Given the description of an element on the screen output the (x, y) to click on. 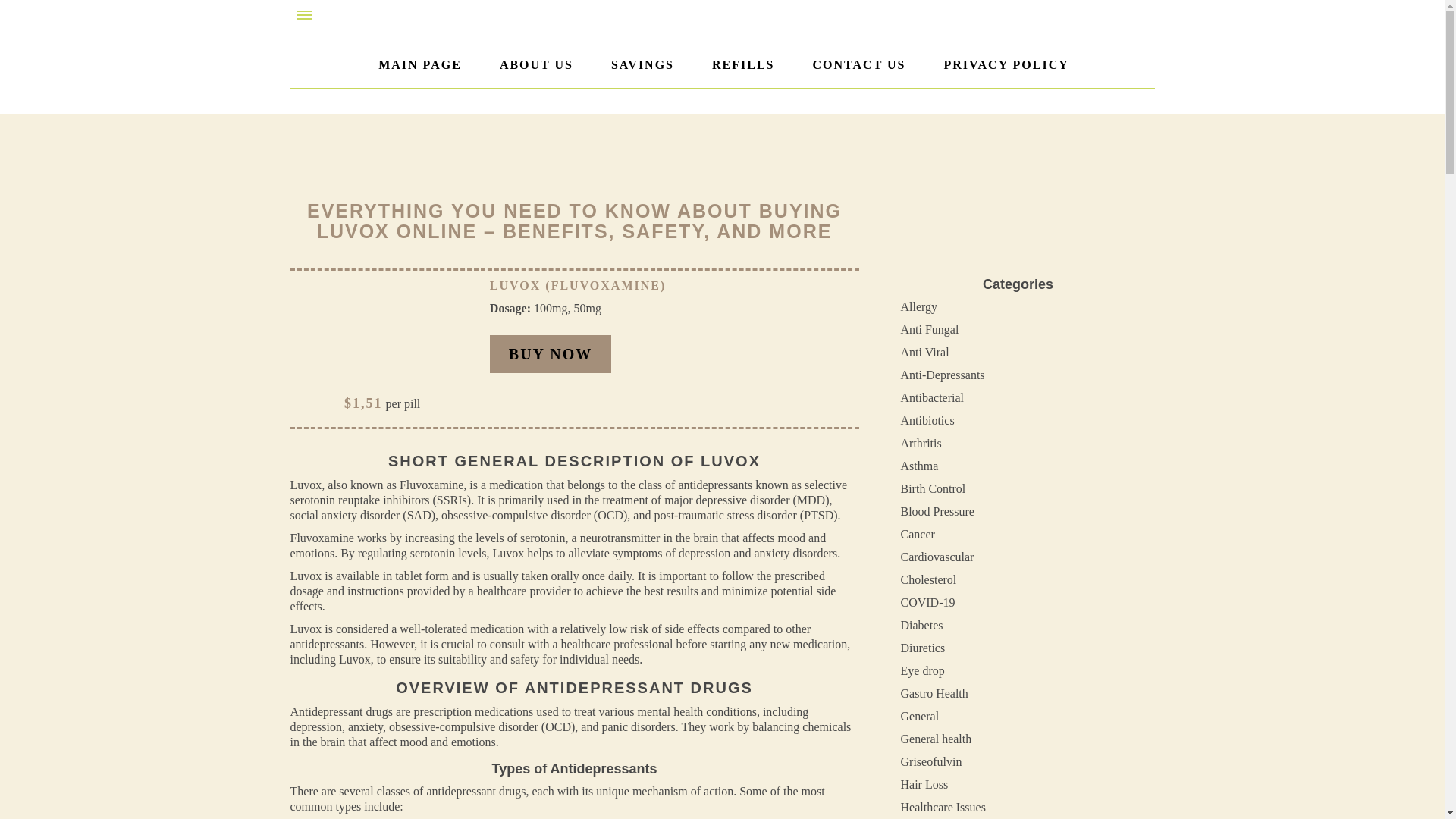
General (920, 716)
Menu (304, 15)
BUY NOW (550, 353)
Birth Control (933, 488)
Allergy (919, 306)
Anti-Depressants (943, 374)
Cardiovascular (937, 556)
Anti Viral (925, 351)
COVID-19 (928, 602)
Antibiotics (928, 420)
